Given the description of an element on the screen output the (x, y) to click on. 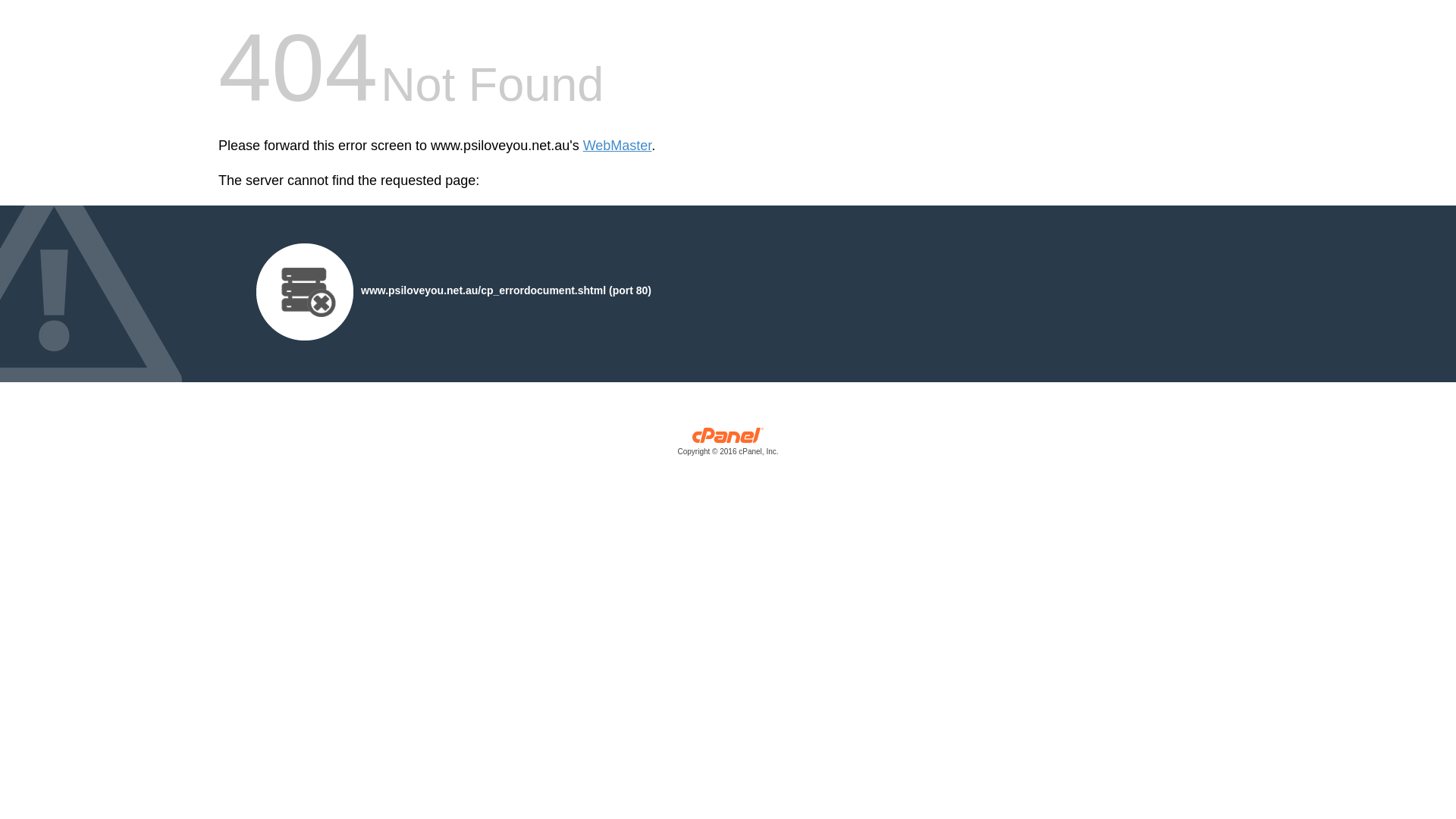
WebMaster Element type: text (617, 145)
